Given the description of an element on the screen output the (x, y) to click on. 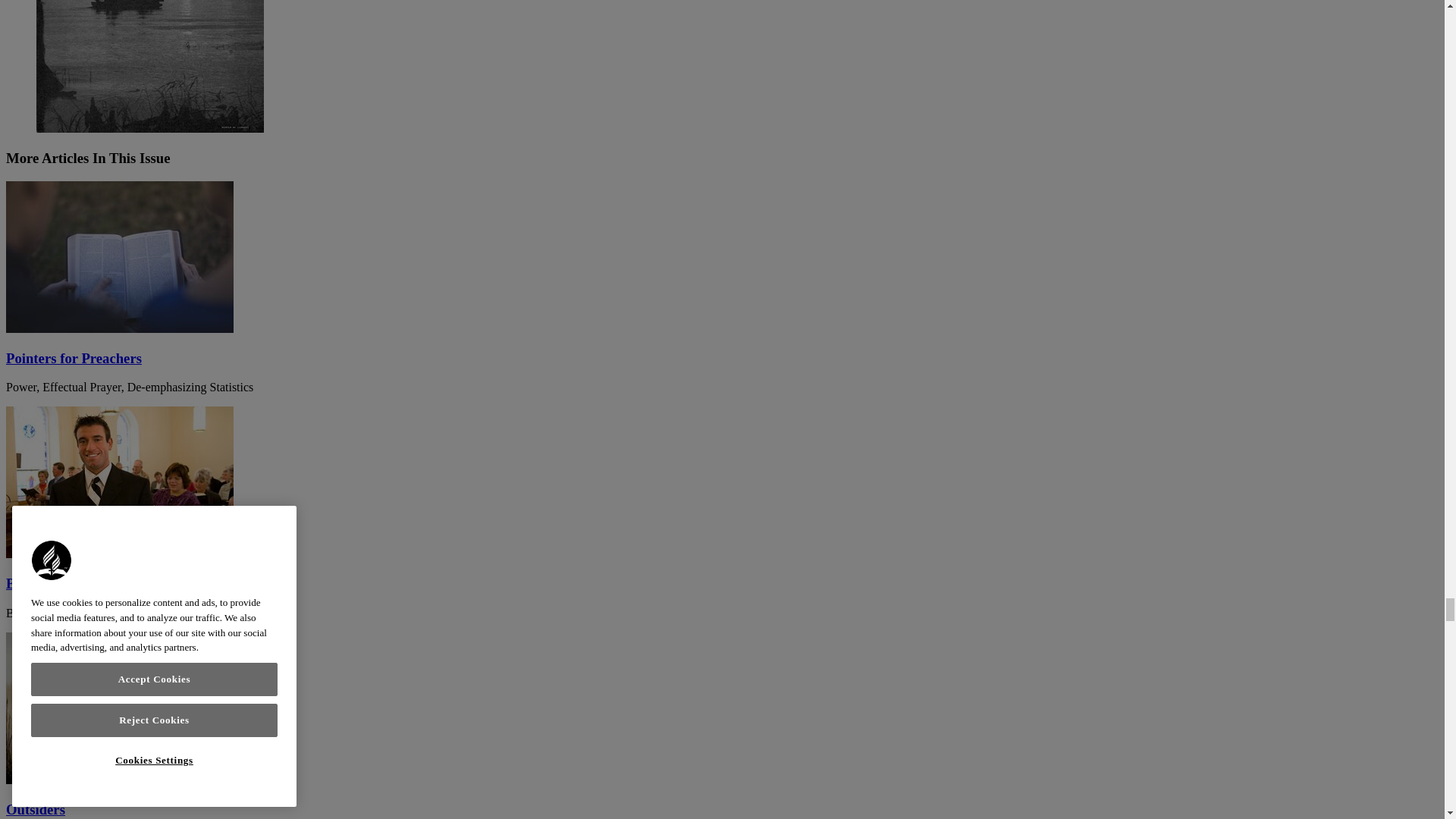
View other articles in this issue. (149, 66)
